Given the description of an element on the screen output the (x, y) to click on. 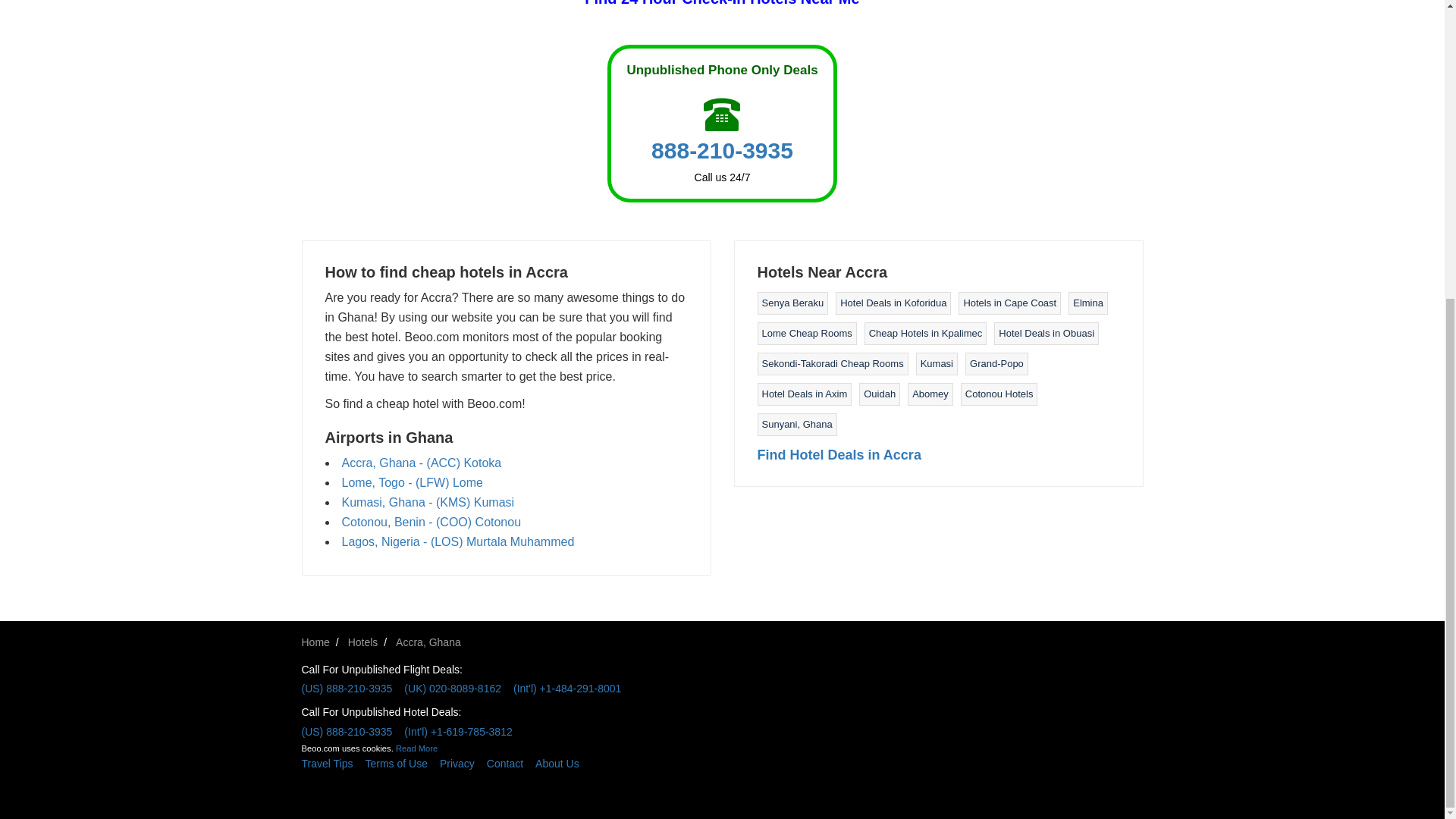
Hotels (362, 642)
Sekondi-Takoradi Cheap Rooms (831, 363)
Hotel Deals in Koforidua (893, 302)
Cheap Hotels in Kpalimec (925, 333)
Home (315, 642)
Hotel Deals in Obuasi (1046, 333)
Find Hotel Deals in Accra (838, 455)
Abomey (930, 393)
Hotel Deals in Axim (804, 393)
Grand-Popo (996, 363)
